Given the description of an element on the screen output the (x, y) to click on. 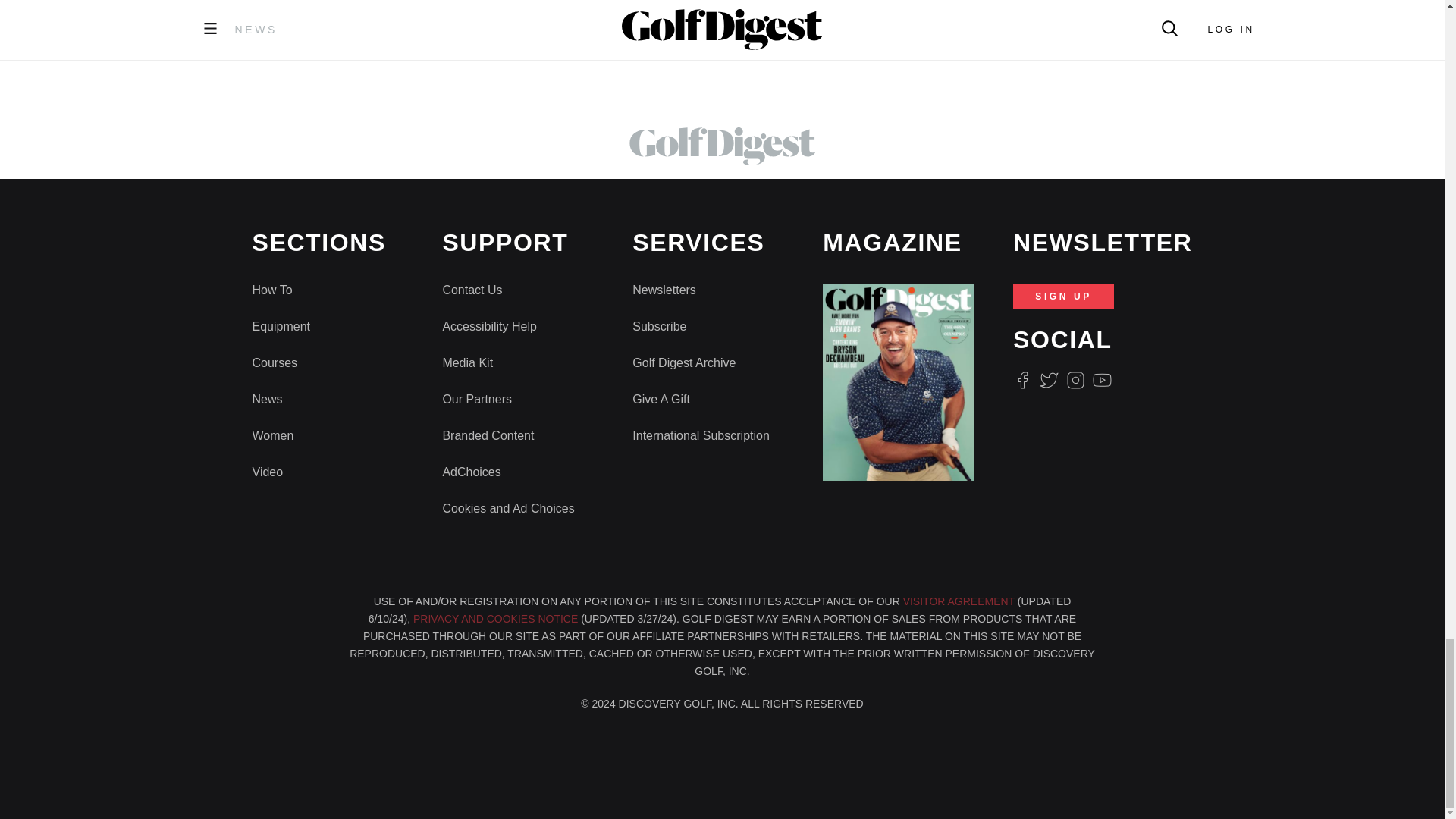
Facebook Logo (1022, 380)
Youtube Icon (1102, 380)
Instagram Logo (1074, 380)
Twitter Logo (1048, 380)
